Given the description of an element on the screen output the (x, y) to click on. 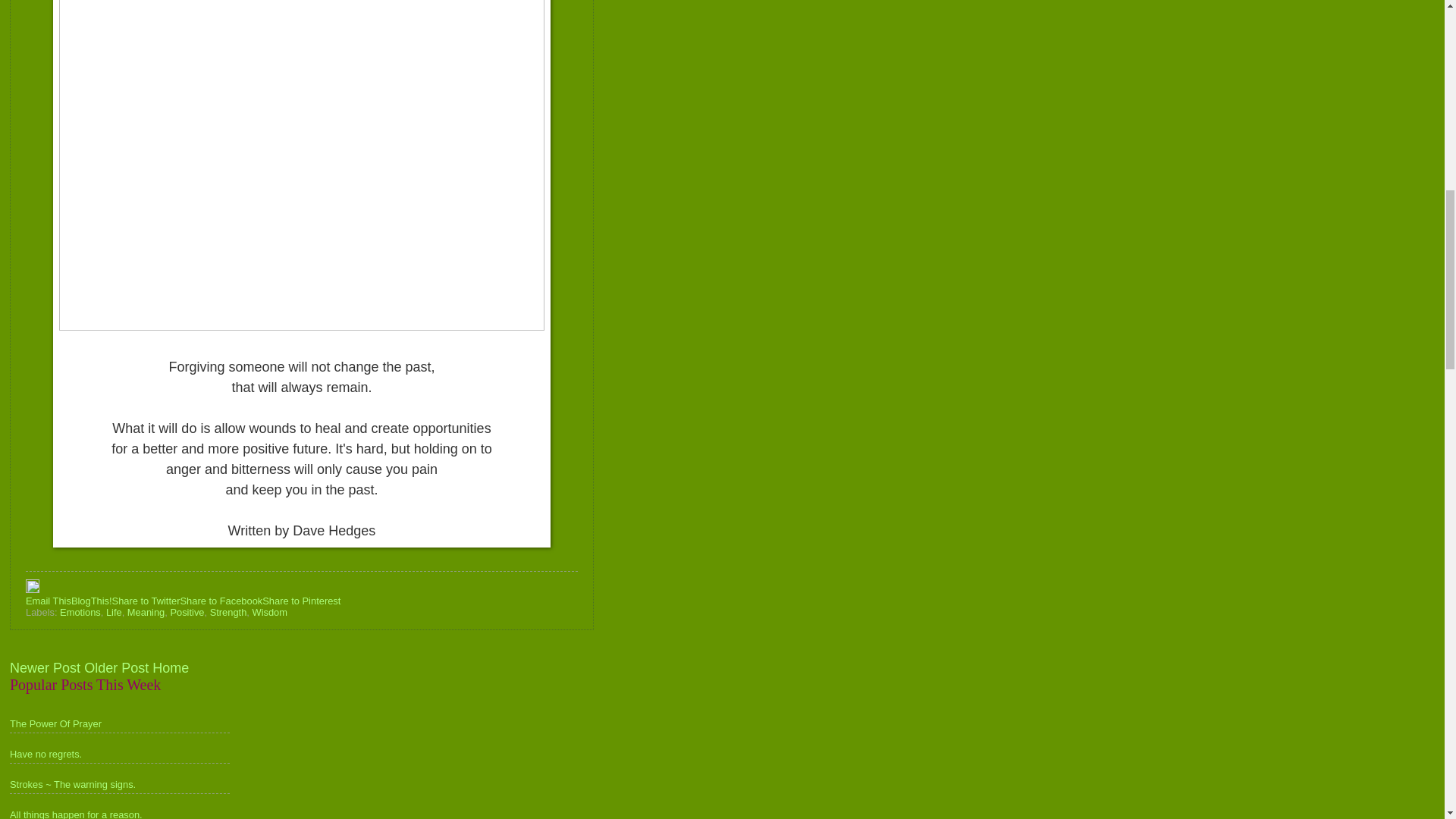
Edit Post (32, 589)
Share to Pinterest (301, 600)
Share to Pinterest (301, 600)
Share to Facebook (220, 600)
Home (170, 667)
Meaning (146, 612)
Older Post (116, 667)
Have no regrets. (45, 754)
Share to Twitter (146, 600)
Share to Facebook (220, 600)
BlogThis! (91, 600)
Wisdom (268, 612)
The Power Of Prayer (55, 723)
Newer Post (45, 667)
Strength (228, 612)
